Given the description of an element on the screen output the (x, y) to click on. 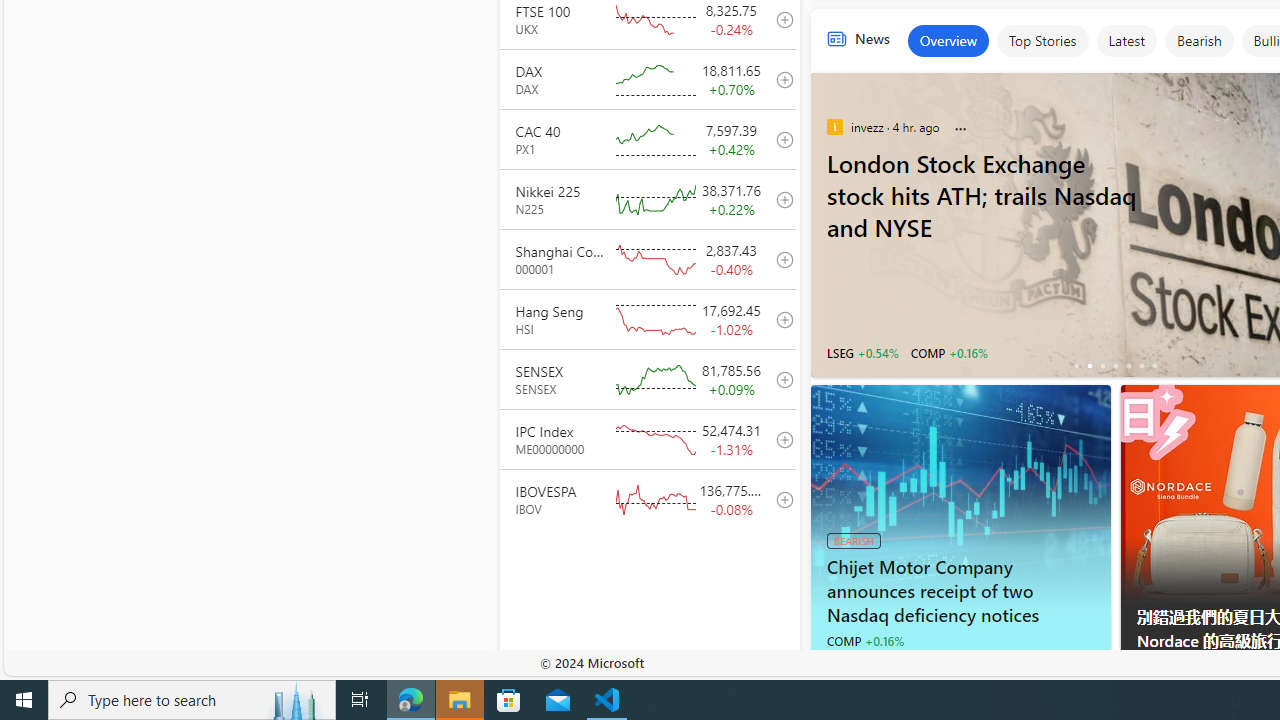
invezz (834, 126)
Seeking Alpha (834, 664)
COMP +0.16% (864, 640)
Overview (948, 40)
Latest (1126, 40)
